Given the description of an element on the screen output the (x, y) to click on. 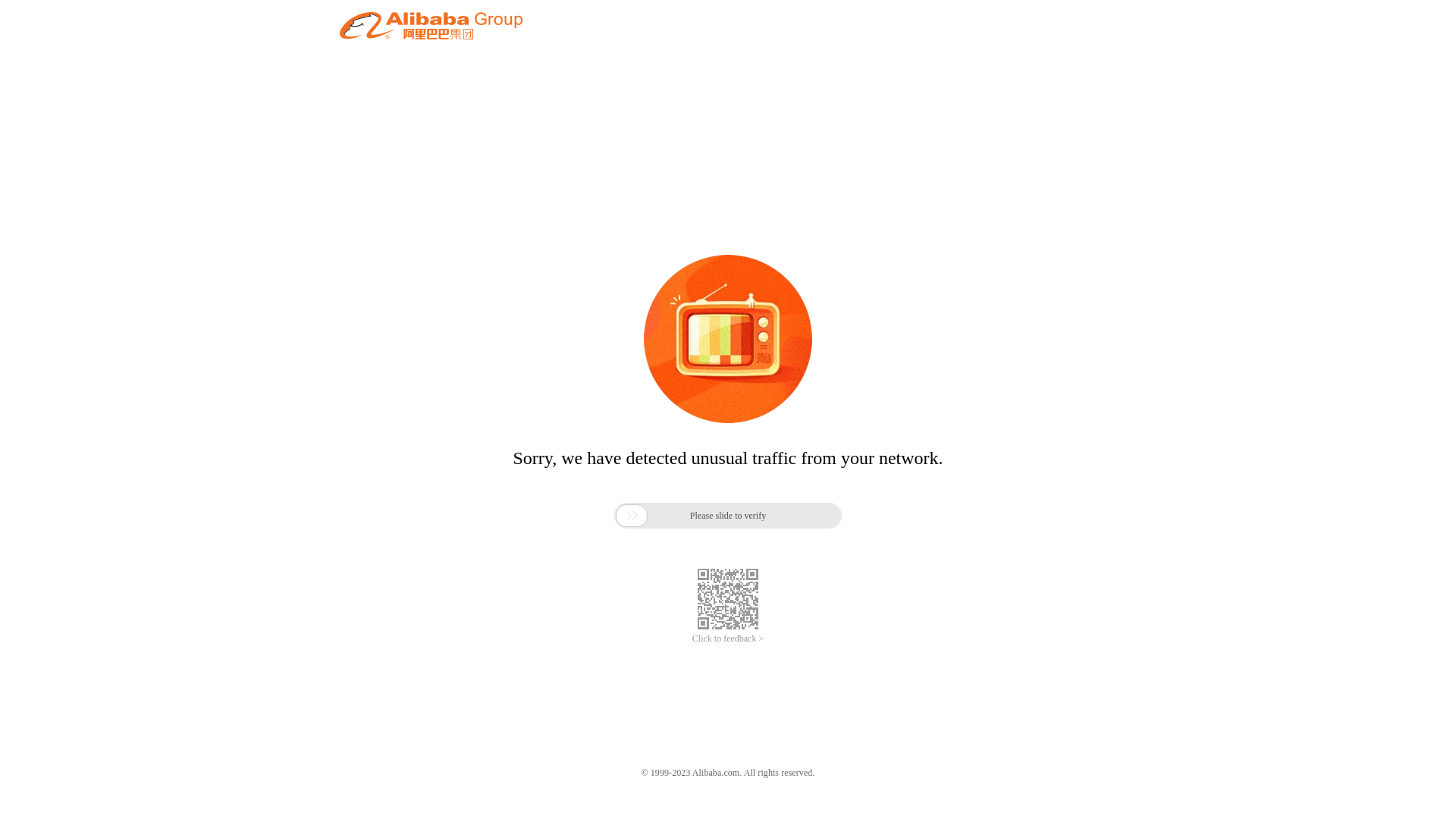
Click to feedback > Element type: text (727, 638)
